Given the description of an element on the screen output the (x, y) to click on. 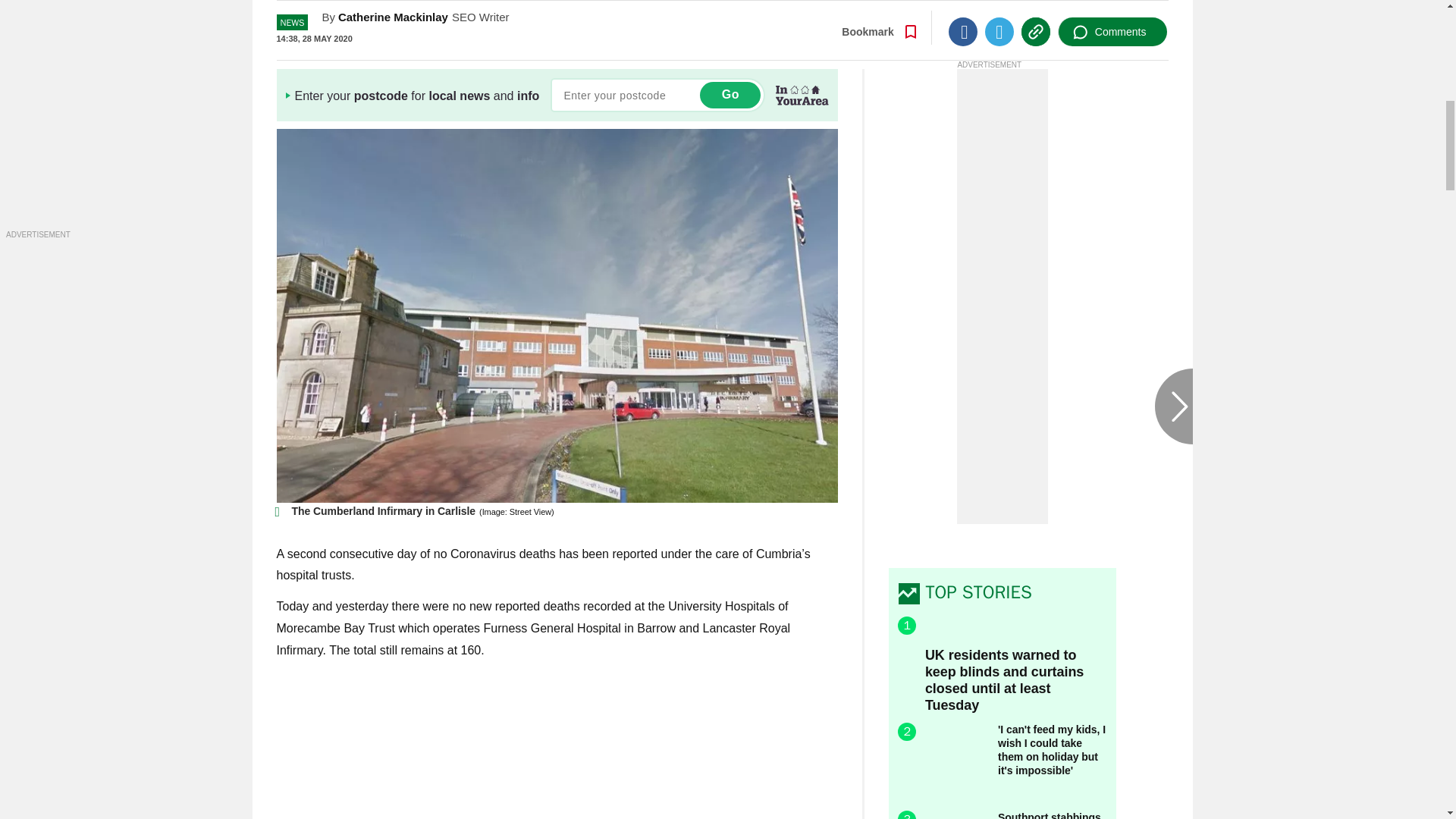
Facebook (962, 22)
Twitter (999, 22)
Go (730, 94)
Comments (1112, 22)
